Given the description of an element on the screen output the (x, y) to click on. 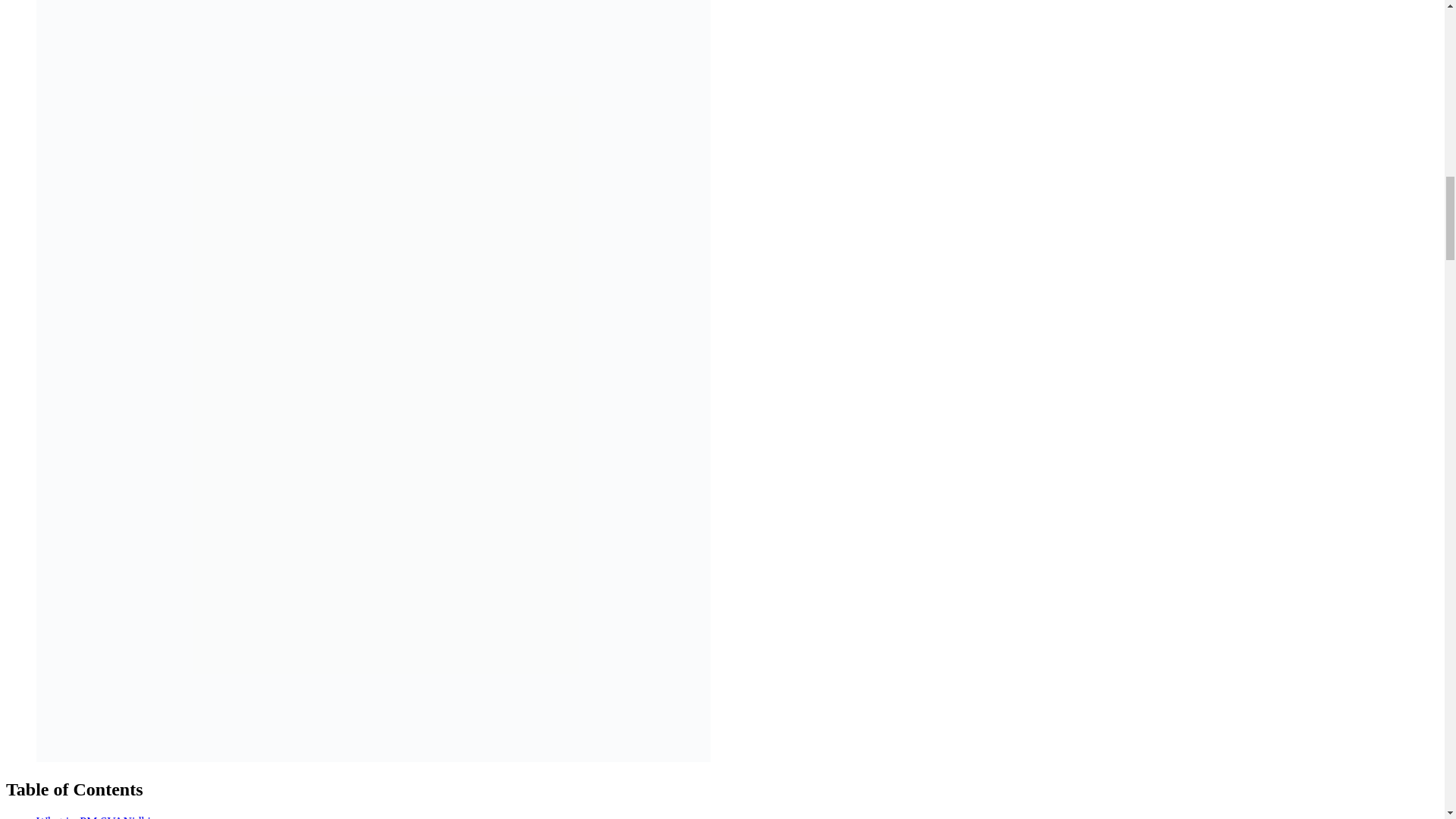
What is  PM SVANidhi (93, 816)
